Given the description of an element on the screen output the (x, y) to click on. 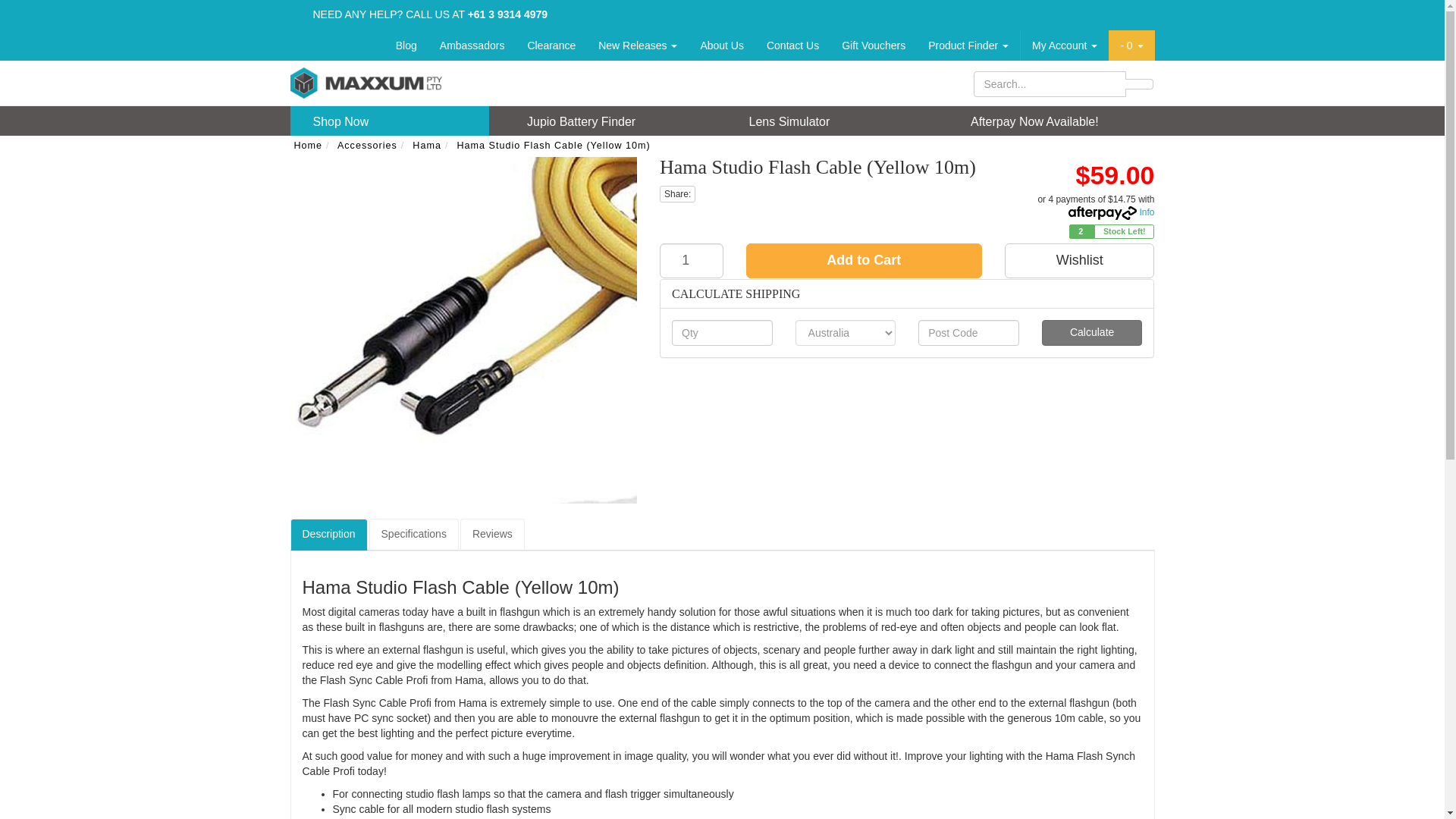
Ambassadors (472, 45)
1 (691, 260)
Contact Us (792, 45)
Add to Cart (863, 260)
Maxxum Pty Ltd (365, 81)
Calculate (1092, 332)
Product Finder (968, 45)
Clearance (550, 45)
Blog (406, 45)
- 0 (1131, 45)
New Releases (637, 45)
About Us (721, 45)
Gift Vouchers (873, 45)
My Account (1064, 45)
